Given the description of an element on the screen output the (x, y) to click on. 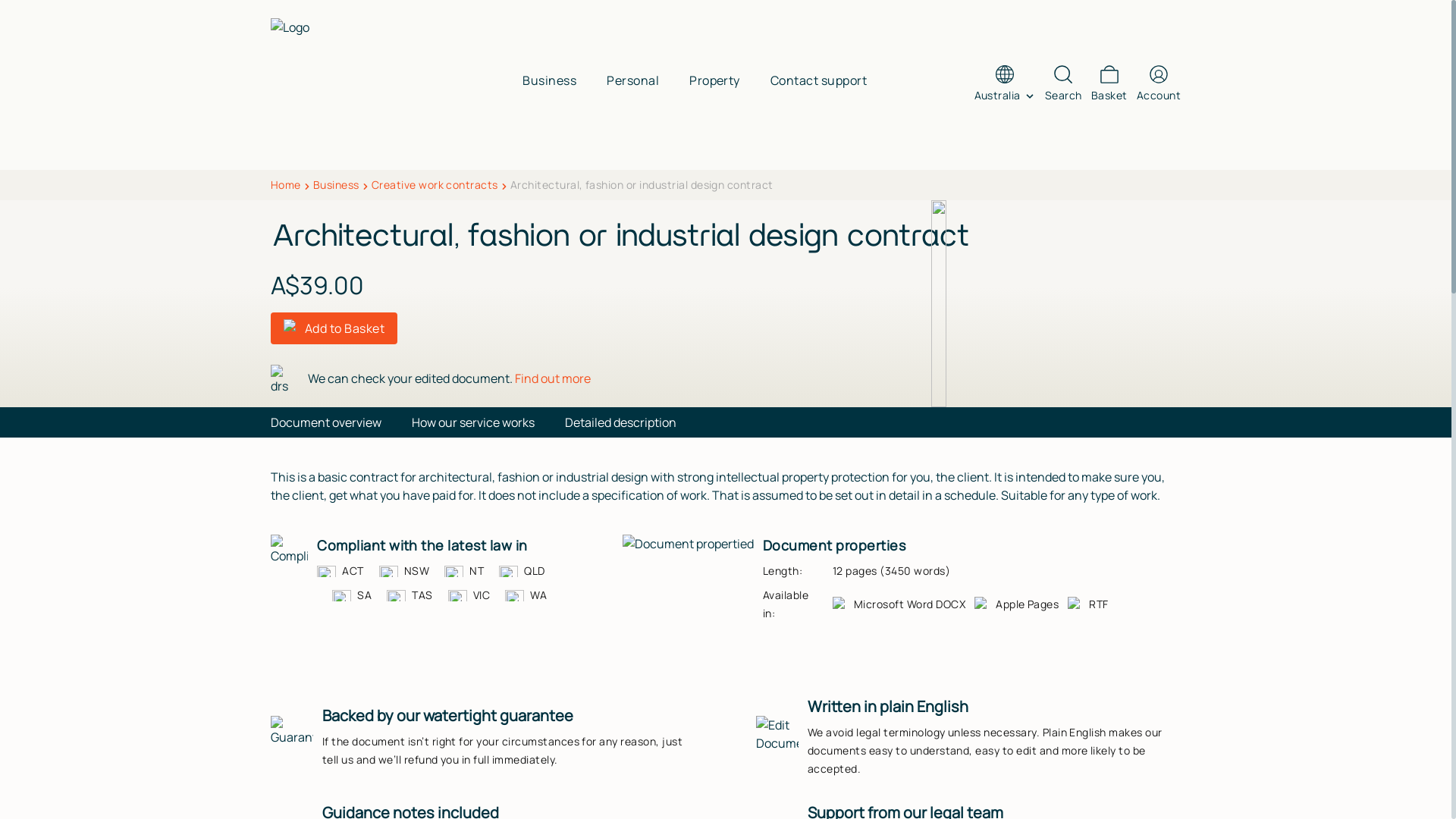
Search Element type: text (1063, 84)
Account Element type: text (1158, 84)
Business Element type: text (549, 80)
Creative work contracts Element type: text (434, 184)
Add to Basket Element type: text (333, 328)
Home Element type: text (285, 184)
Business Element type: text (336, 184)
Property Element type: text (714, 80)
Contact support Element type: text (818, 80)
Find out more Element type: text (552, 378)
Detailed description Element type: text (620, 422)
Australia Element type: text (1004, 95)
Basket Element type: text (1109, 84)
How our service works Element type: text (472, 422)
Document overview Element type: text (325, 422)
Personal Element type: text (632, 80)
